Given the description of an element on the screen output the (x, y) to click on. 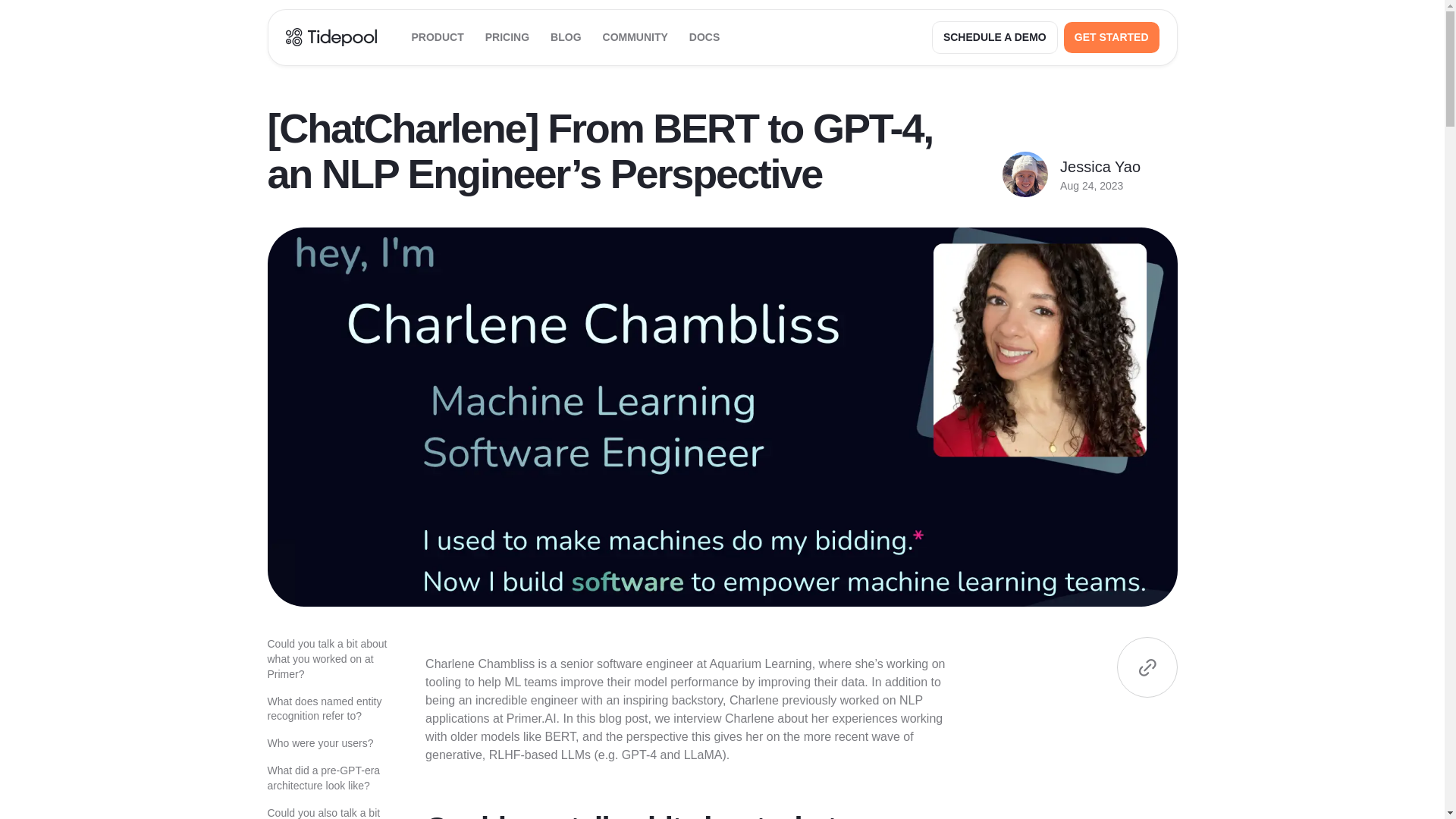
COMMUNITY (635, 37)
BLOG (565, 37)
SCHEDULE A DEMO (994, 37)
What did a pre-GPT-era architecture look like? (327, 778)
GET STARTED (1111, 37)
DOCS (704, 37)
PRICING (507, 37)
Could you talk a bit about what you worked on at Primer? (327, 659)
PRODUCT (437, 37)
What does named entity recognition refer to? (327, 709)
Who were your users? (327, 743)
